Given the description of an element on the screen output the (x, y) to click on. 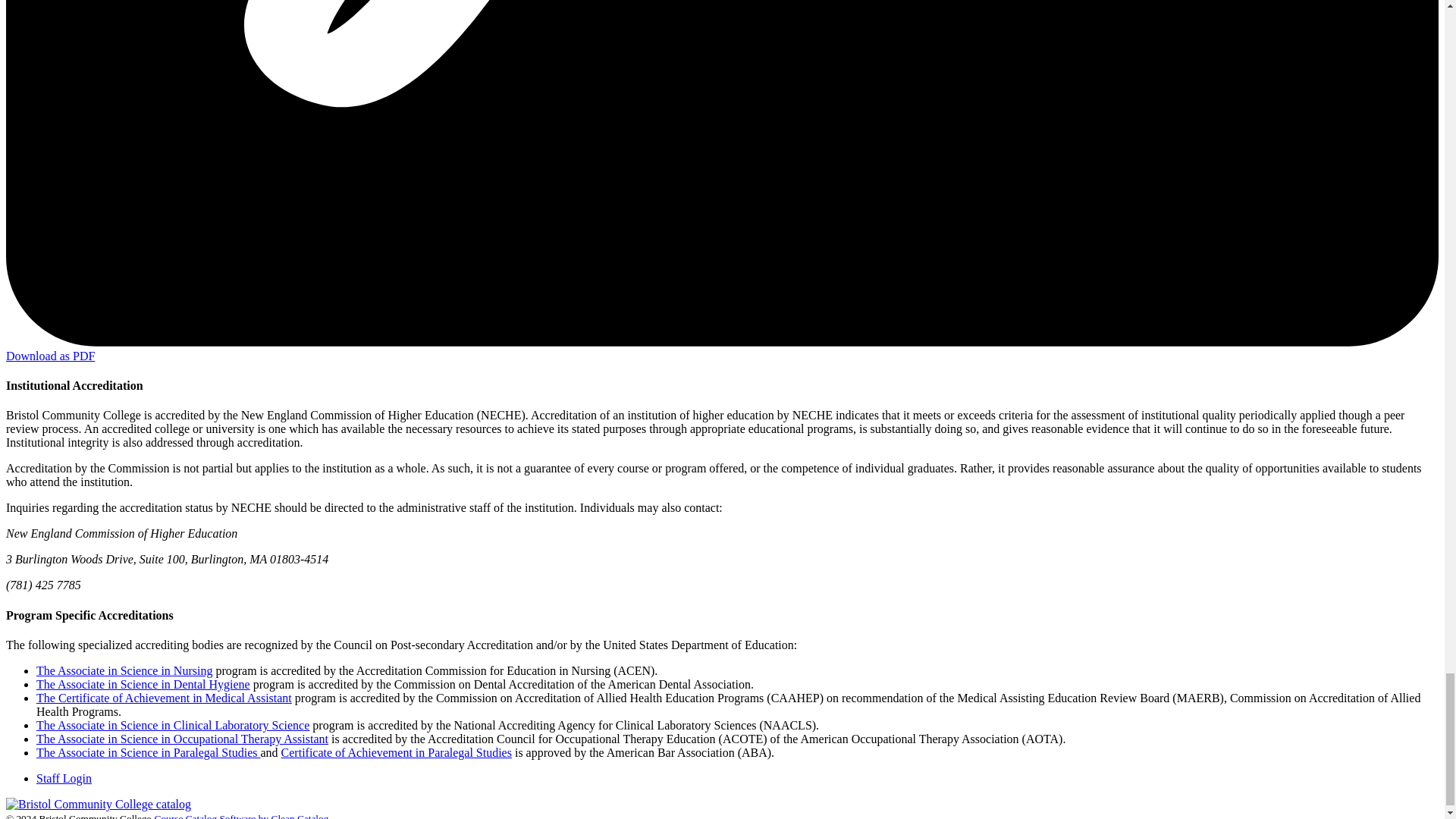
The Certificate of Achievement in Medical Assistant (164, 697)
The Associate in Science in Dental Hygiene (143, 684)
Staff Login (63, 778)
The Associate in Science in Clinical Laboratory Science (172, 725)
The Associate in Science in Paralegal Studies (148, 752)
Download as PDF (49, 355)
The Associate in Science in Nursing (124, 670)
Certificate of Achievement in Paralegal Studies (396, 752)
The Associate in Science in Occupational Therapy Assistant (182, 738)
